Given the description of an element on the screen output the (x, y) to click on. 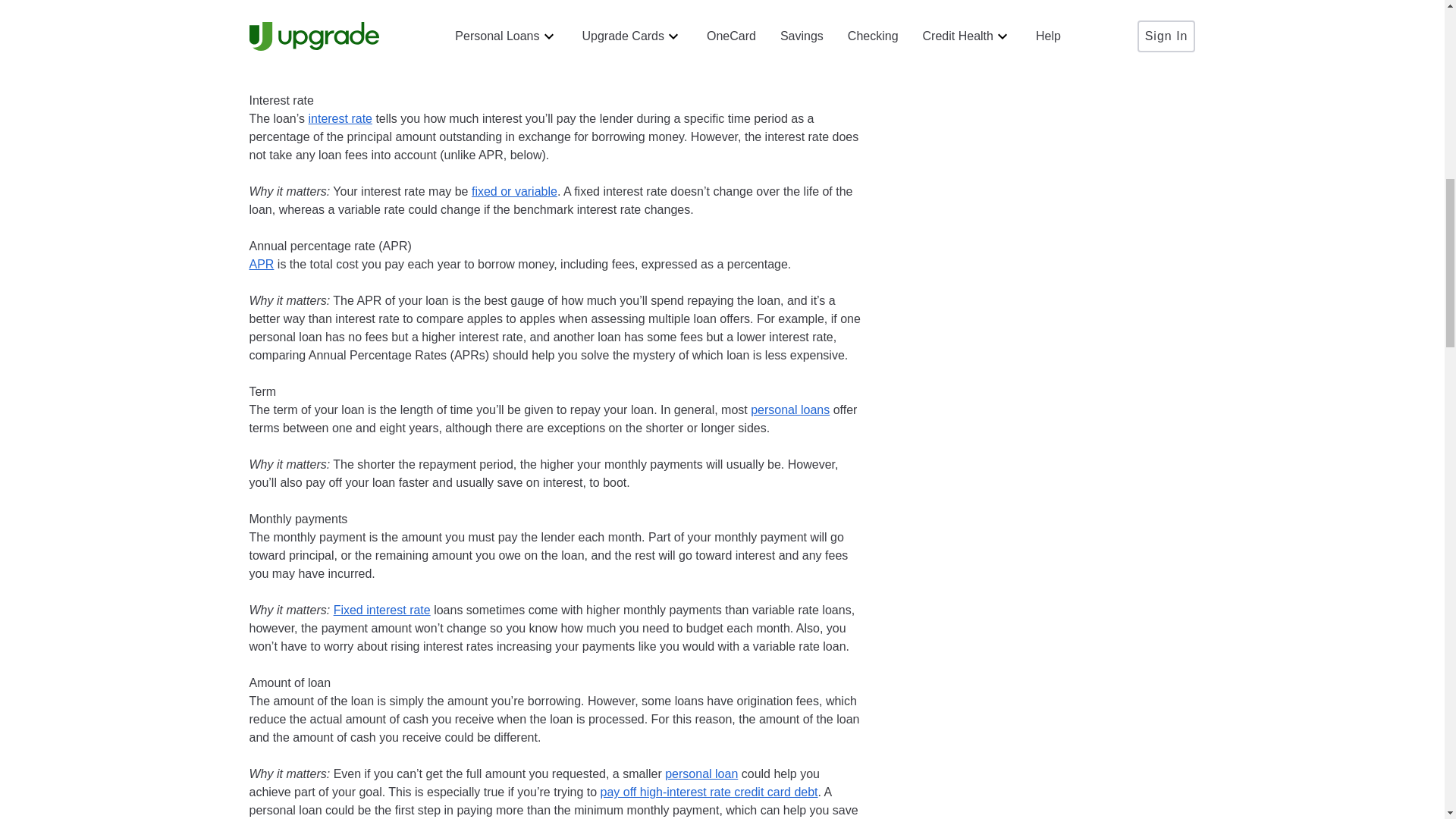
personal loans (790, 409)
interest rate (339, 118)
personal loan (701, 773)
Fixed interest rate (381, 609)
pay off high-interest rate credit card debt (708, 791)
APR (260, 264)
fixed or variable (514, 191)
